Given the description of an element on the screen output the (x, y) to click on. 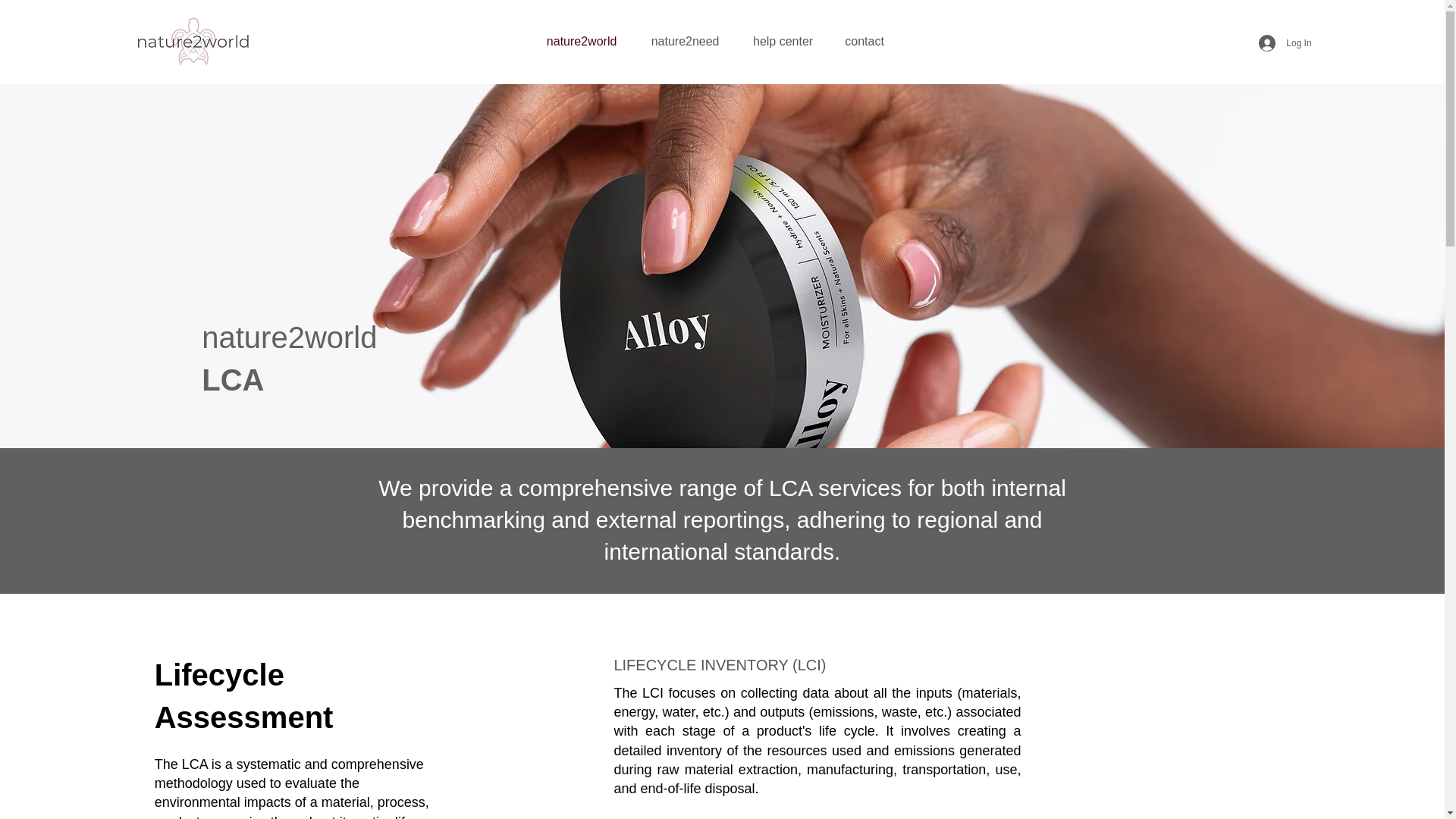
nature2world (581, 41)
contact (864, 41)
nature2need (684, 41)
Log In (1284, 43)
help center (782, 41)
